Given the description of an element on the screen output the (x, y) to click on. 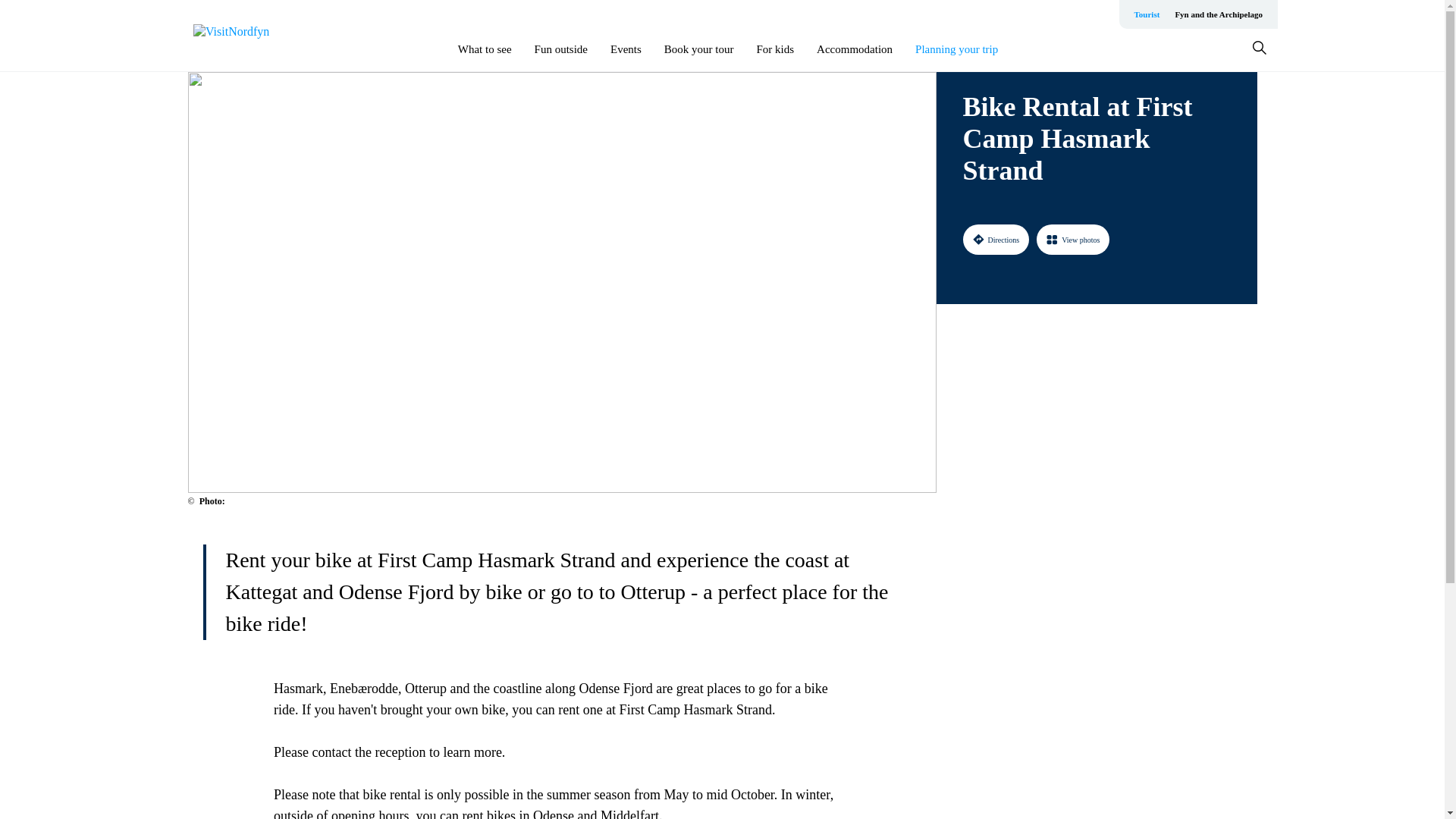
Planning your trip (956, 49)
View photos (1072, 239)
Directions (995, 239)
Book your tour (698, 49)
What to see (485, 49)
Accommodation (854, 49)
Fyn and the Archipelago (1218, 14)
Events (626, 49)
Fun outside (561, 49)
Tourist (1146, 14)
Go to homepage (253, 35)
For kids (775, 49)
